Given the description of an element on the screen output the (x, y) to click on. 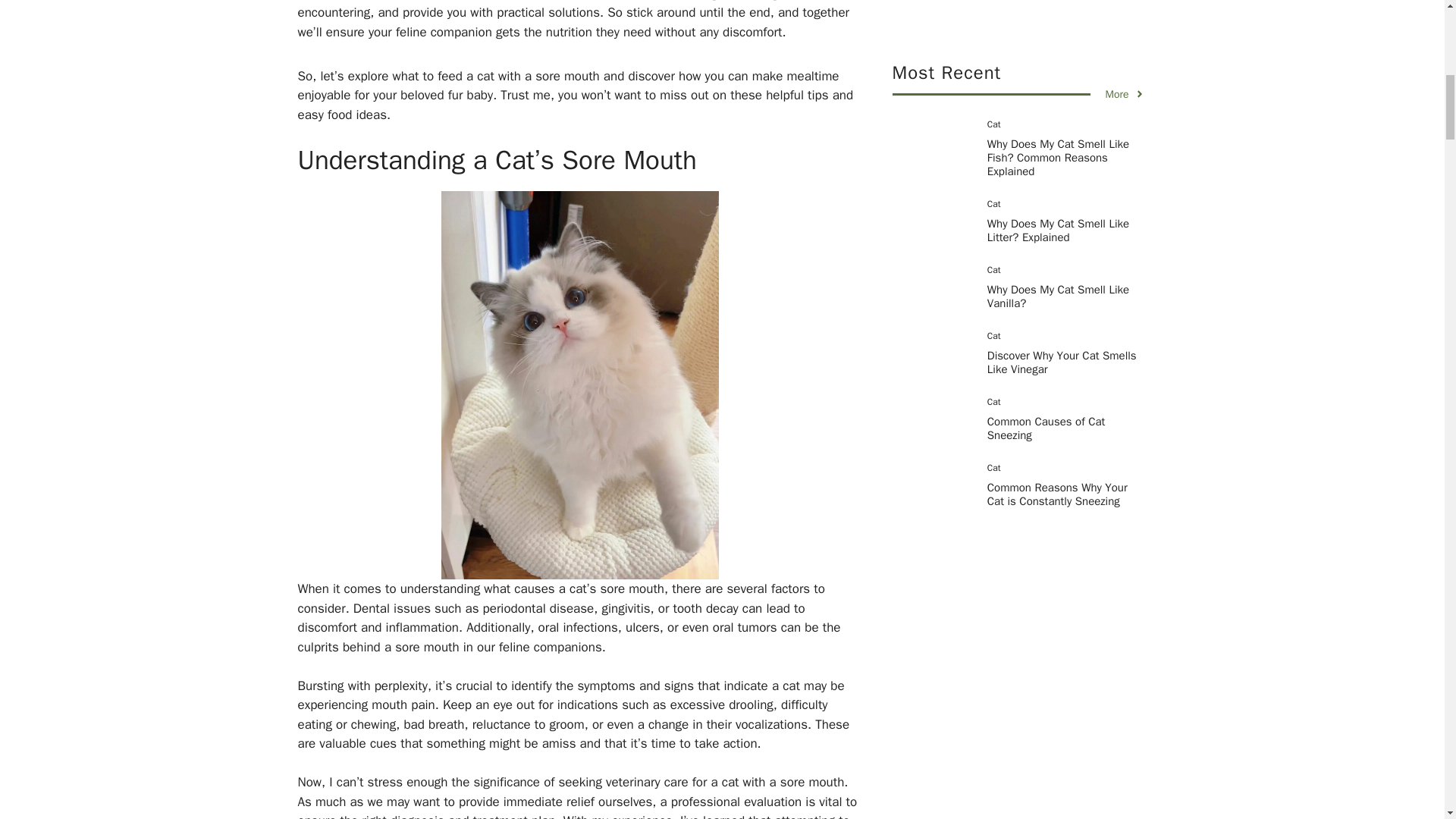
Common Causes of Cat Sneezing (1046, 66)
Discover Why Your Cat Smells Like Vinegar (1062, 7)
Common Reasons Why Your Cat is Constantly Sneezing (1056, 132)
